Given the description of an element on the screen output the (x, y) to click on. 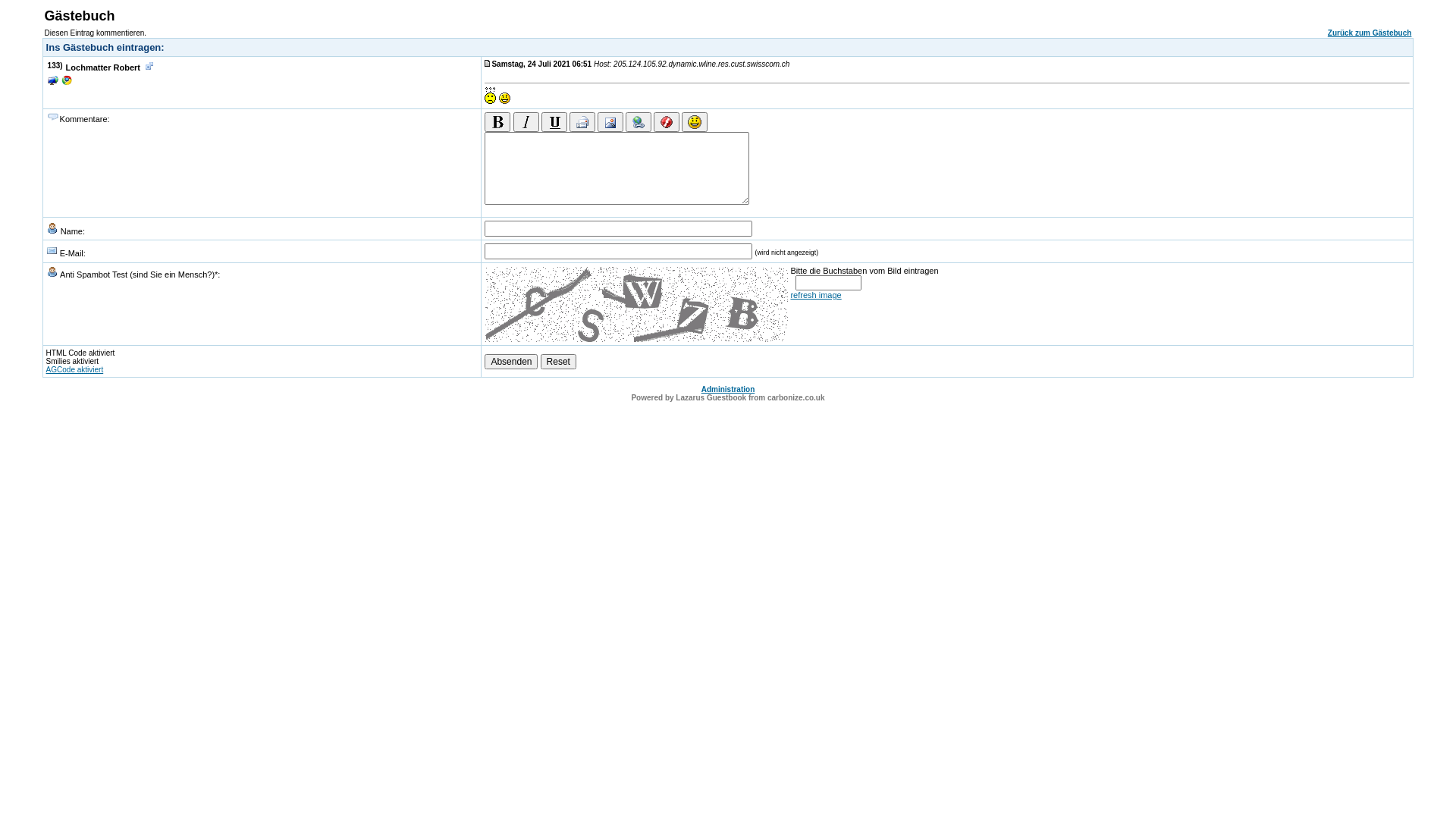
Anti Spambot Test (sind Sie ein Mensch?) Element type: hover (52, 271)
IP gespeichert Element type: hover (52, 80)
confused Element type: hover (489, 95)
smile Element type: hover (504, 97)
AGCode aktiviert Element type: text (74, 369)
Name Element type: hover (52, 227)
refresh image Element type: text (946, 294)
E-Mail Element type: hover (51, 250)
Administration Element type: text (728, 389)
Absenden Element type: text (510, 360)
Powered by Lazarus Guestbook from carbonize.co.uk Element type: text (727, 397)
